Given the description of an element on the screen output the (x, y) to click on. 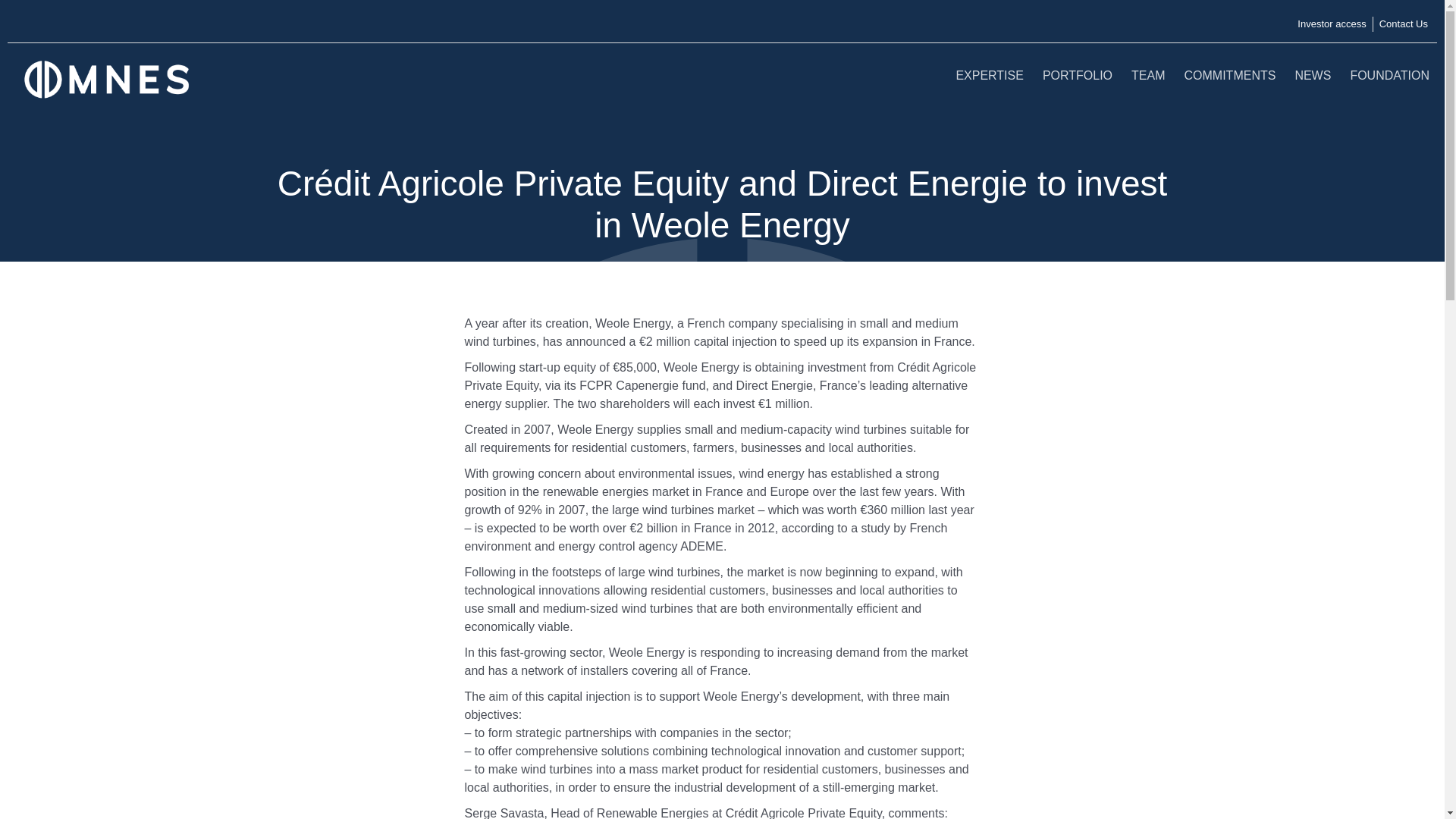
PORTFOLIO (1077, 74)
Contact Us (1403, 23)
FOUNDATION (1389, 74)
EXPERTISE (989, 74)
COMMITMENTS (1230, 74)
Investor access (1331, 23)
NEWS (1312, 74)
TEAM (1147, 74)
